Given the description of an element on the screen output the (x, y) to click on. 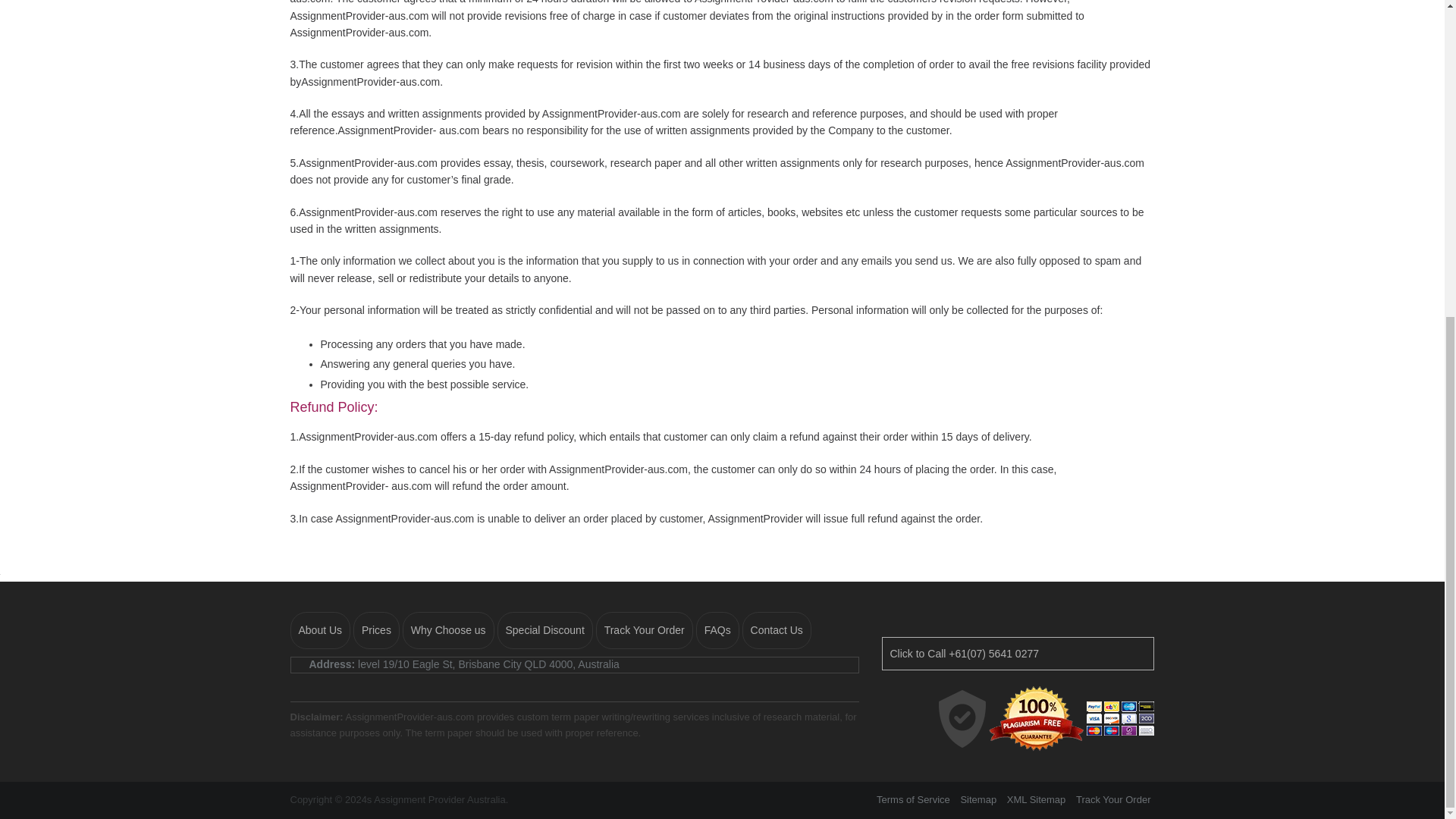
Contact number for student support (1017, 653)
